Given the description of an element on the screen output the (x, y) to click on. 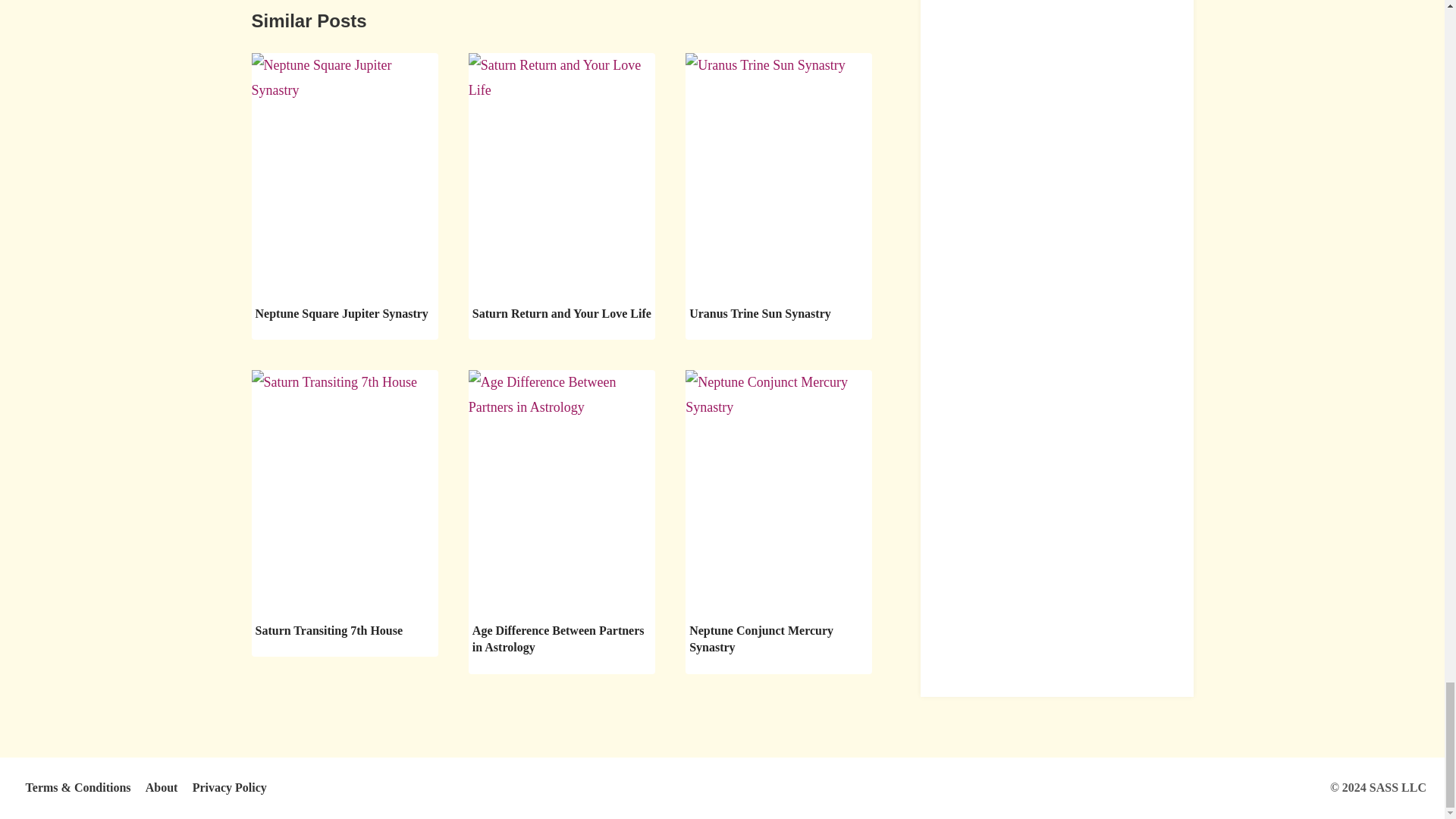
Saturn Return and Your Love Life (560, 313)
Neptune Square Jupiter Synastry (341, 313)
